Given the description of an element on the screen output the (x, y) to click on. 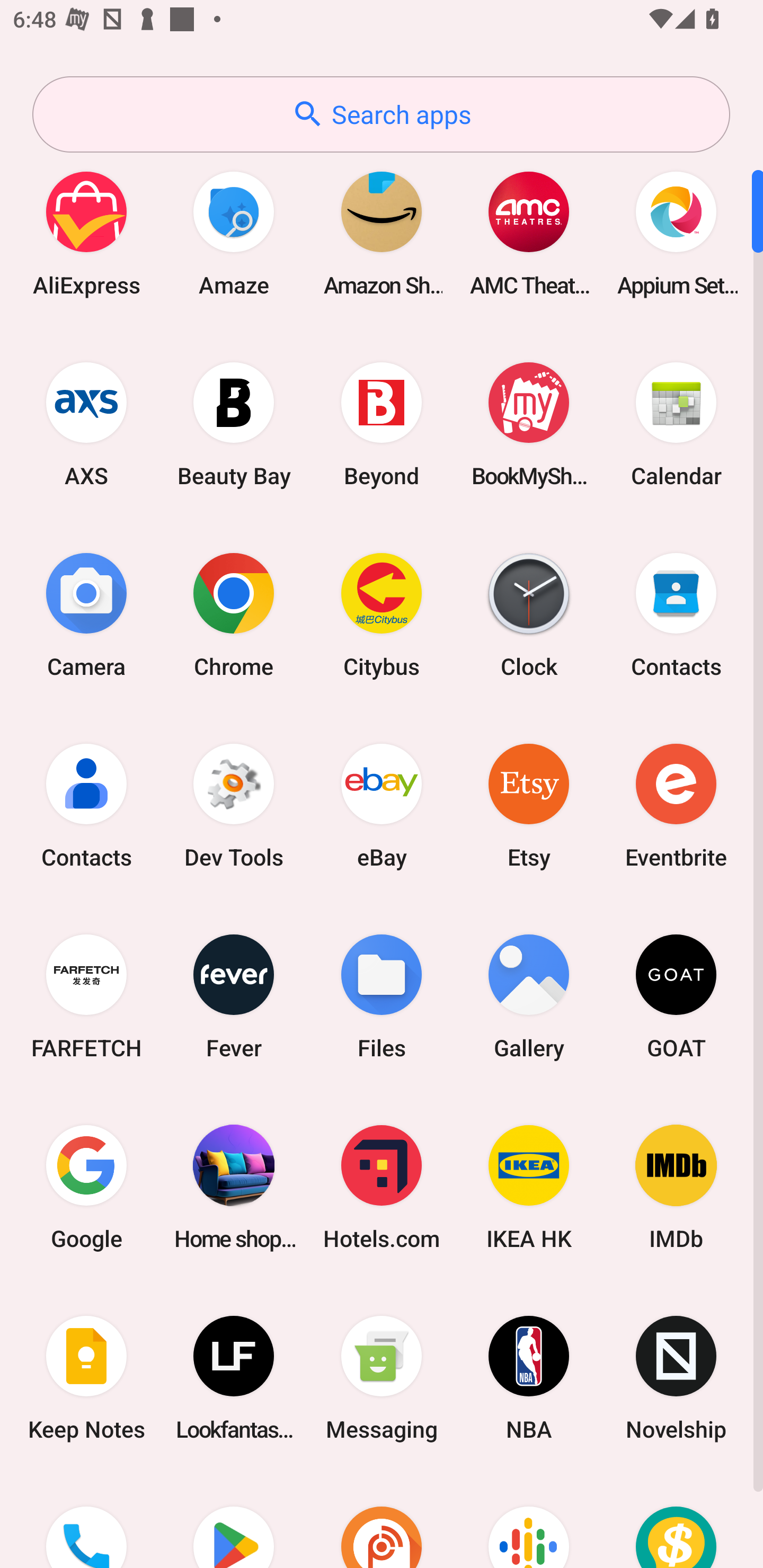
  Search apps (381, 114)
AliExpress (86, 233)
Amaze (233, 233)
Amazon Shopping (381, 233)
AMC Theatres (528, 233)
Appium Settings (676, 233)
AXS (86, 424)
Beauty Bay (233, 424)
Beyond (381, 424)
BookMyShow (528, 424)
Calendar (676, 424)
Camera (86, 614)
Chrome (233, 614)
Citybus (381, 614)
Clock (528, 614)
Contacts (676, 614)
Contacts (86, 805)
Dev Tools (233, 805)
eBay (381, 805)
Etsy (528, 805)
Eventbrite (676, 805)
FARFETCH (86, 996)
Fever (233, 996)
Files (381, 996)
Gallery (528, 996)
GOAT (676, 996)
Google (86, 1186)
Home shopping (233, 1186)
Hotels.com (381, 1186)
IKEA HK (528, 1186)
IMDb (676, 1186)
Keep Notes (86, 1377)
Lookfantastic (233, 1377)
Messaging (381, 1377)
NBA (528, 1377)
Novelship (676, 1377)
Phone (86, 1520)
Play Store (233, 1520)
Podcast Addict (381, 1520)
Podcasts (528, 1520)
Price (676, 1520)
